Given the description of an element on the screen output the (x, y) to click on. 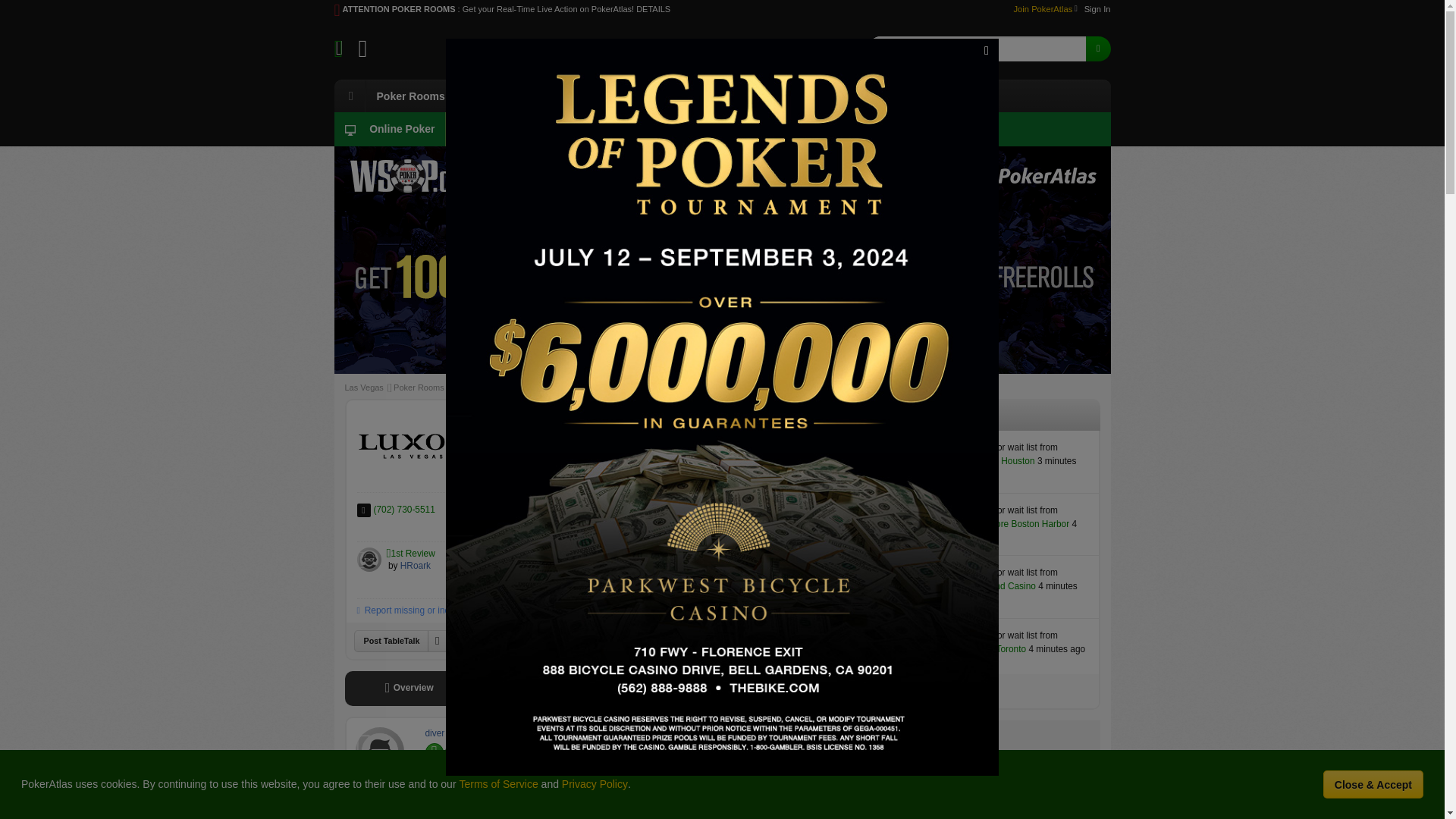
Reviews (772, 96)
TableTalk (849, 96)
Dec 22, 2011 (590, 748)
: Get your Real-Time Live Action on PokerAtlas! DETAILS (564, 8)
5 (519, 439)
Current Location (539, 55)
4 (453, 750)
Poker Rooms (409, 96)
Las Vegas (544, 55)
Online Poker (388, 128)
1 (453, 750)
Sign In (1094, 9)
Cash Games (693, 96)
Special Events (602, 96)
2 (453, 750)
